Given the description of an element on the screen output the (x, y) to click on. 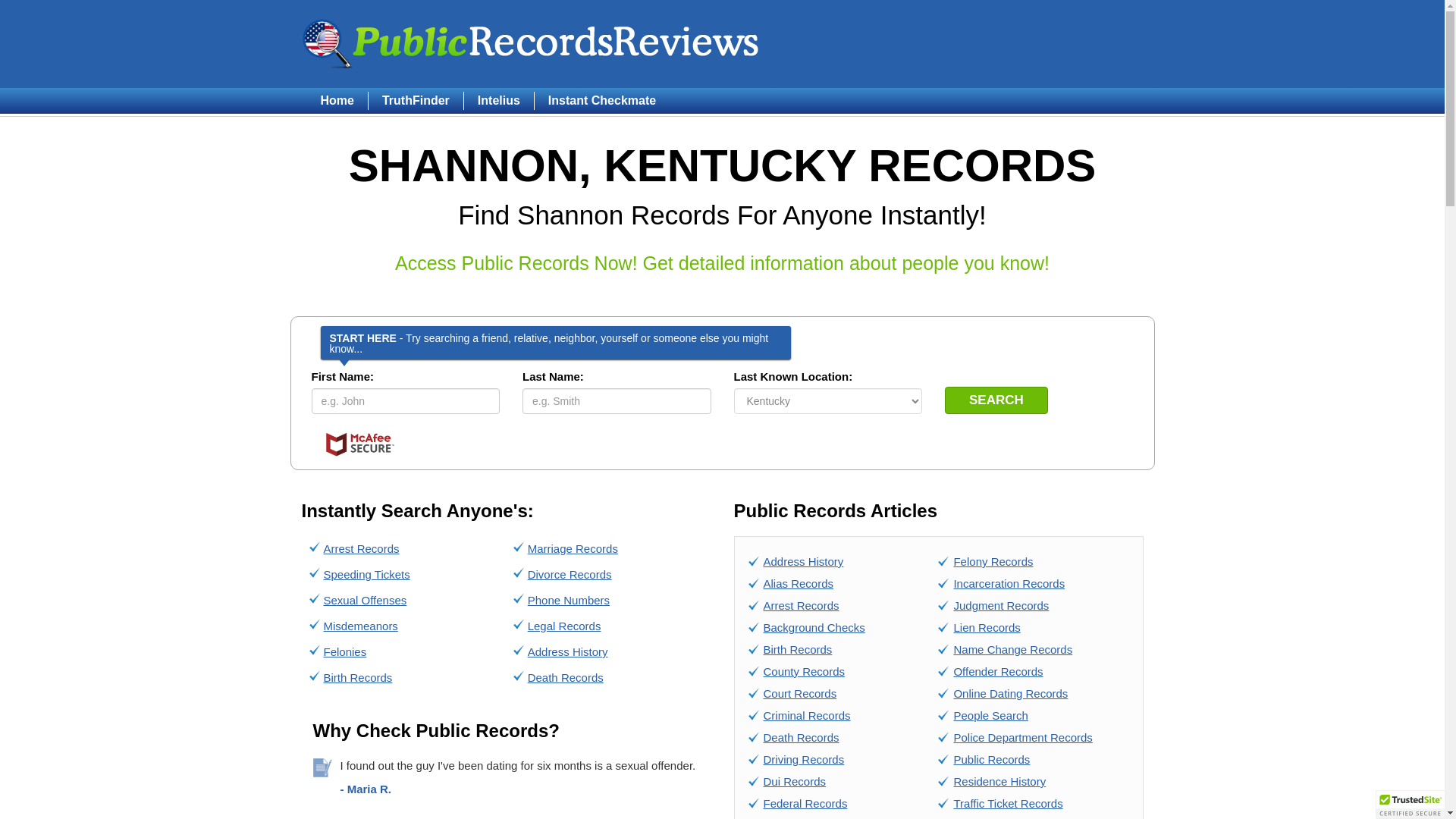
Misdemeanors (360, 625)
People Search (990, 715)
Death Records (800, 737)
Lien Records (986, 626)
Home (343, 100)
Marriage Records (572, 548)
Dui Records (793, 780)
Court Records (798, 693)
Birth Records (357, 676)
Online Dating Records (1010, 693)
